Given the description of an element on the screen output the (x, y) to click on. 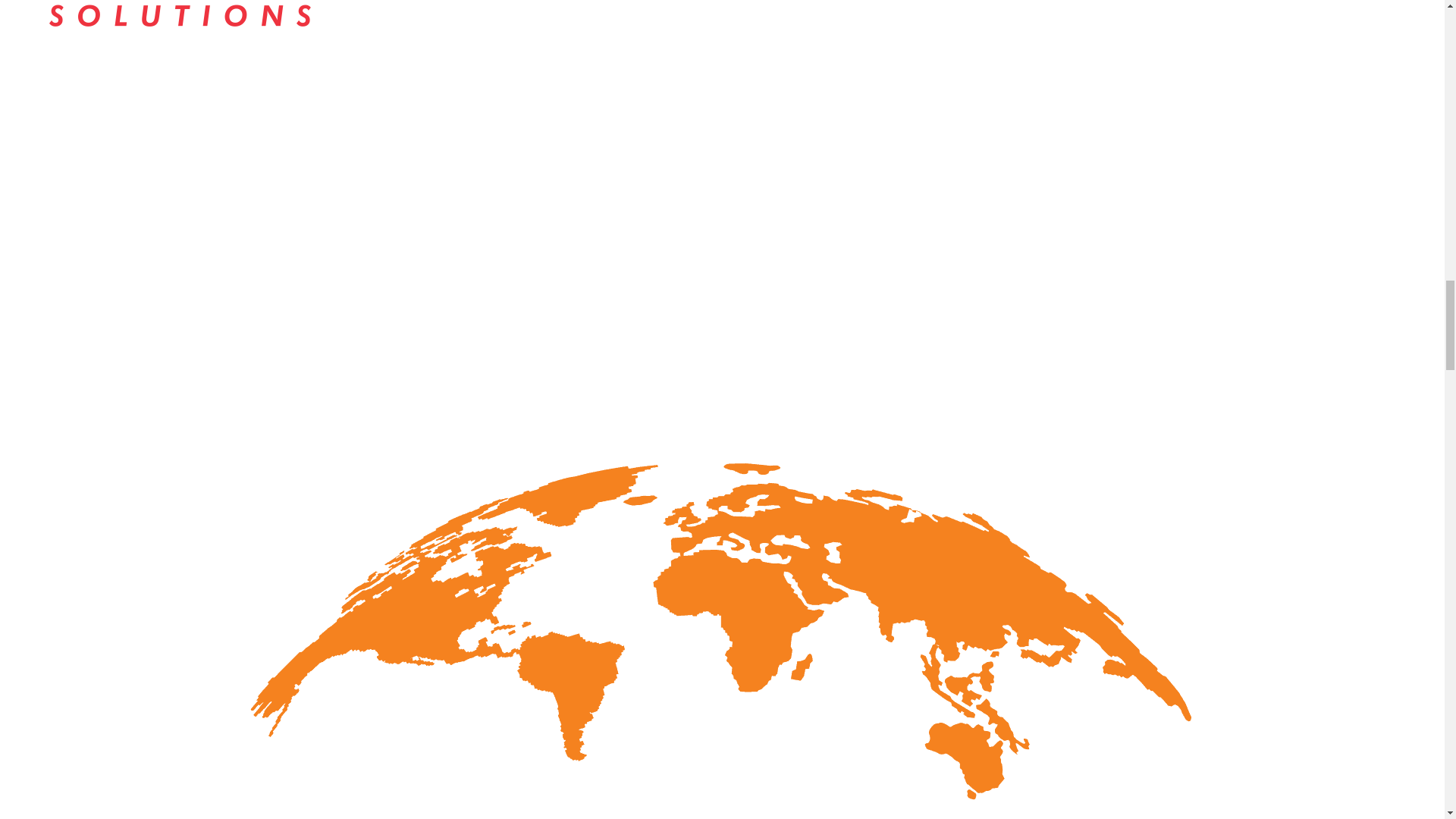
Arrow Solutions (189, 46)
